Given the description of an element on the screen output the (x, y) to click on. 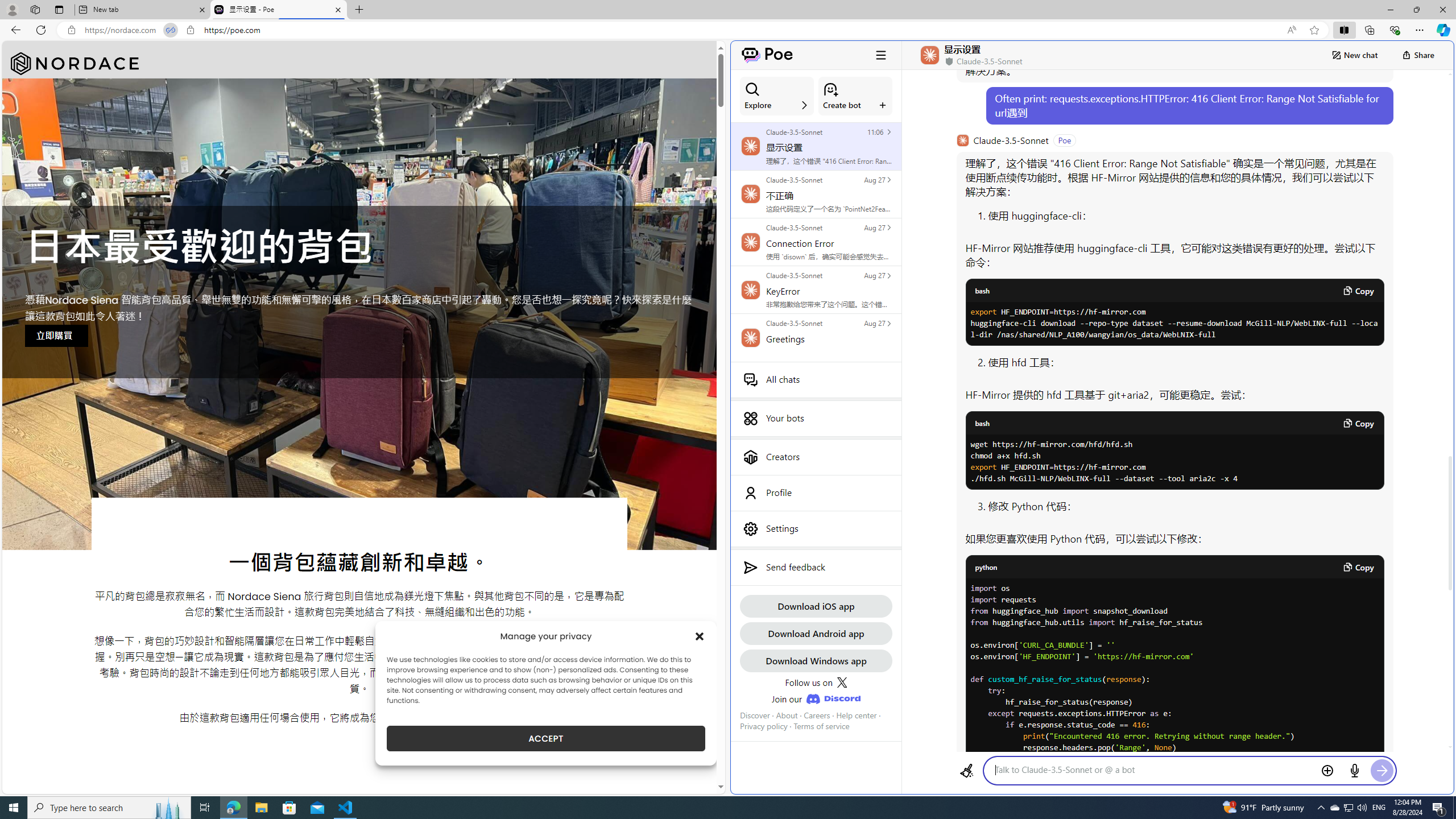
Copy (1357, 566)
Class: ManageBotsCardSection_searchIcon__laGLi (752, 89)
Create bot (855, 95)
ACCEPT (545, 738)
Download iOS app (815, 605)
Terms of service (821, 726)
Class: ManageBotsCardSection_labelIcon__EjW_j (882, 104)
Talk to Claude-3.5-Sonnet or @ a bot (1152, 769)
Your bots (815, 418)
